Given the description of an element on the screen output the (x, y) to click on. 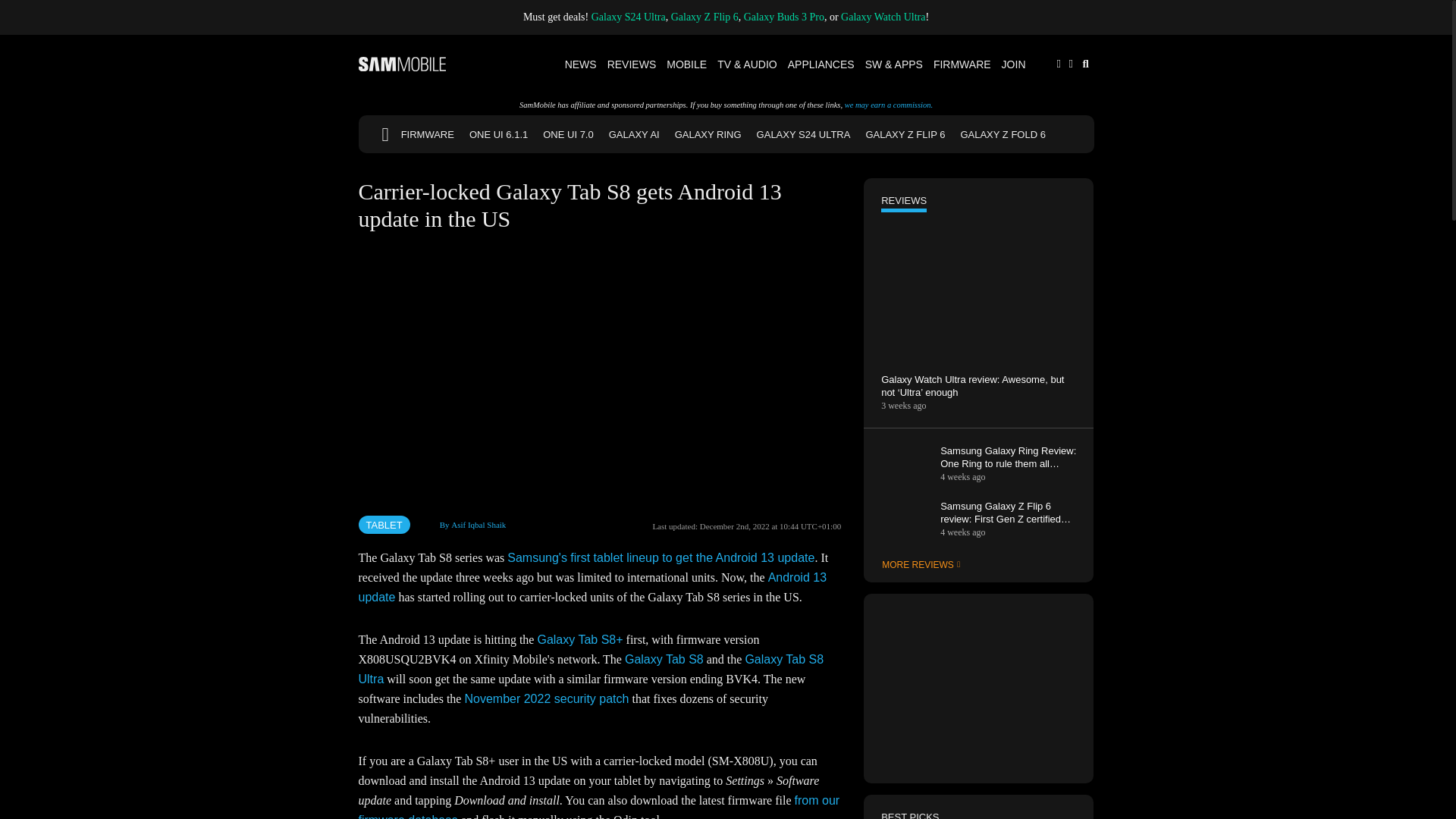
MOBILE (686, 64)
Galaxy Z Flip 6 (704, 16)
SamMobile logo (401, 63)
Show Notifications (1058, 62)
REVIEWS (632, 64)
Galaxy Buds 3 Pro (784, 16)
Galaxy S24 Ultra (628, 16)
Galaxy Watch Ultra (882, 16)
